Given the description of an element on the screen output the (x, y) to click on. 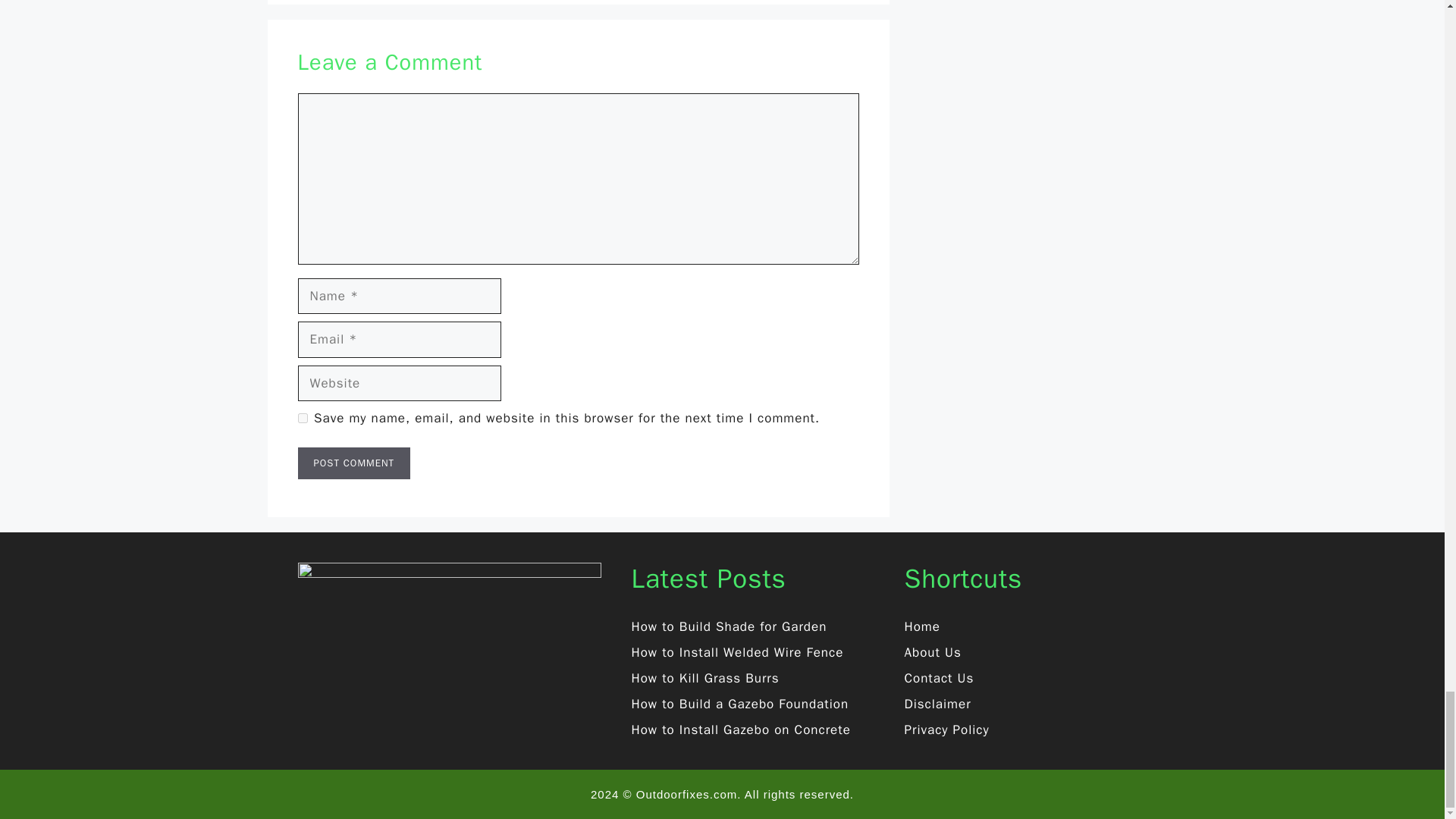
Post Comment (353, 463)
Post Comment (353, 463)
yes (302, 418)
